Given the description of an element on the screen output the (x, y) to click on. 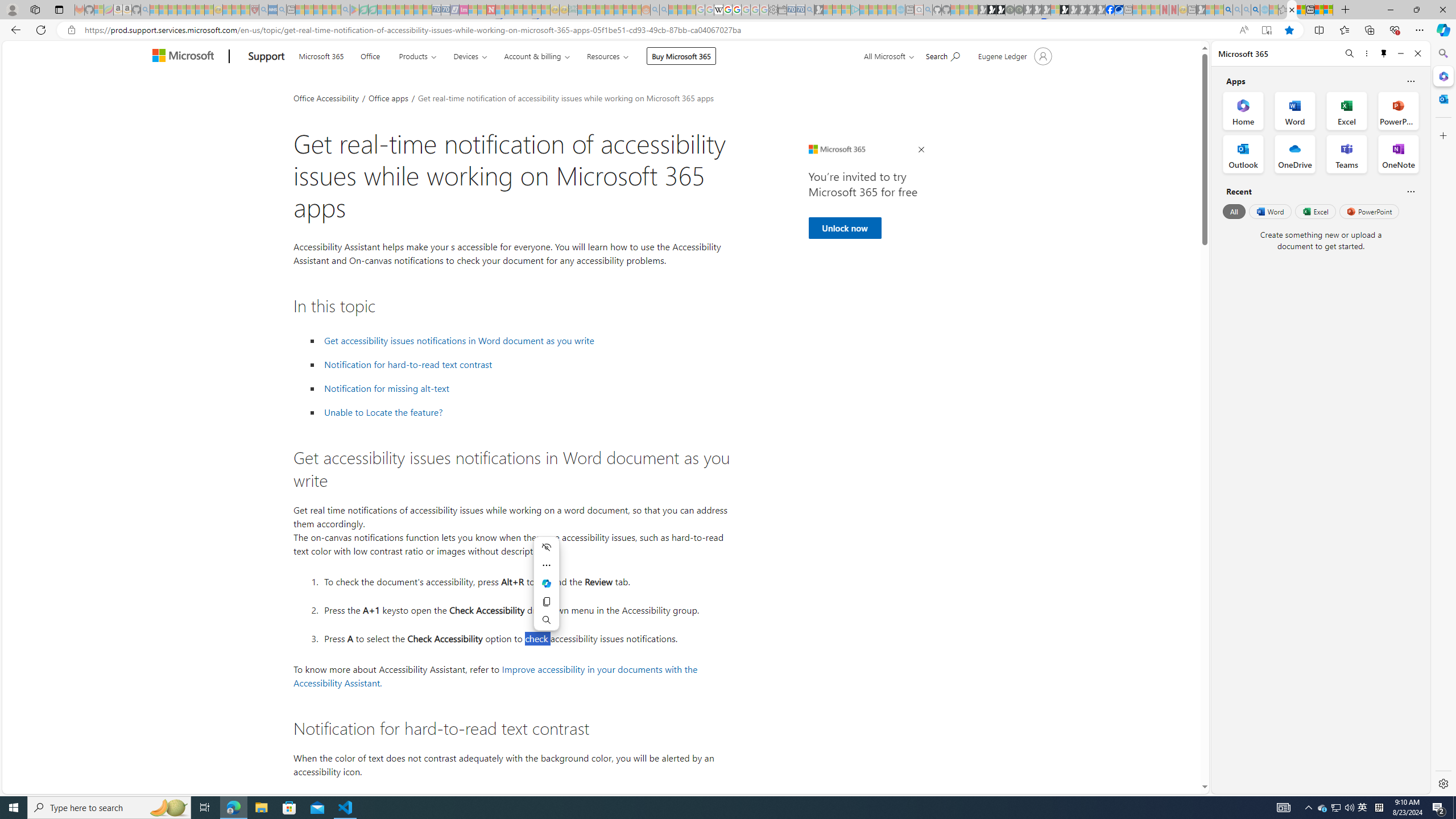
Support (266, 56)
Account manager for Eugene Ledger (1014, 55)
Unlock now (844, 228)
Ask Copilot (546, 583)
